Given the description of an element on the screen output the (x, y) to click on. 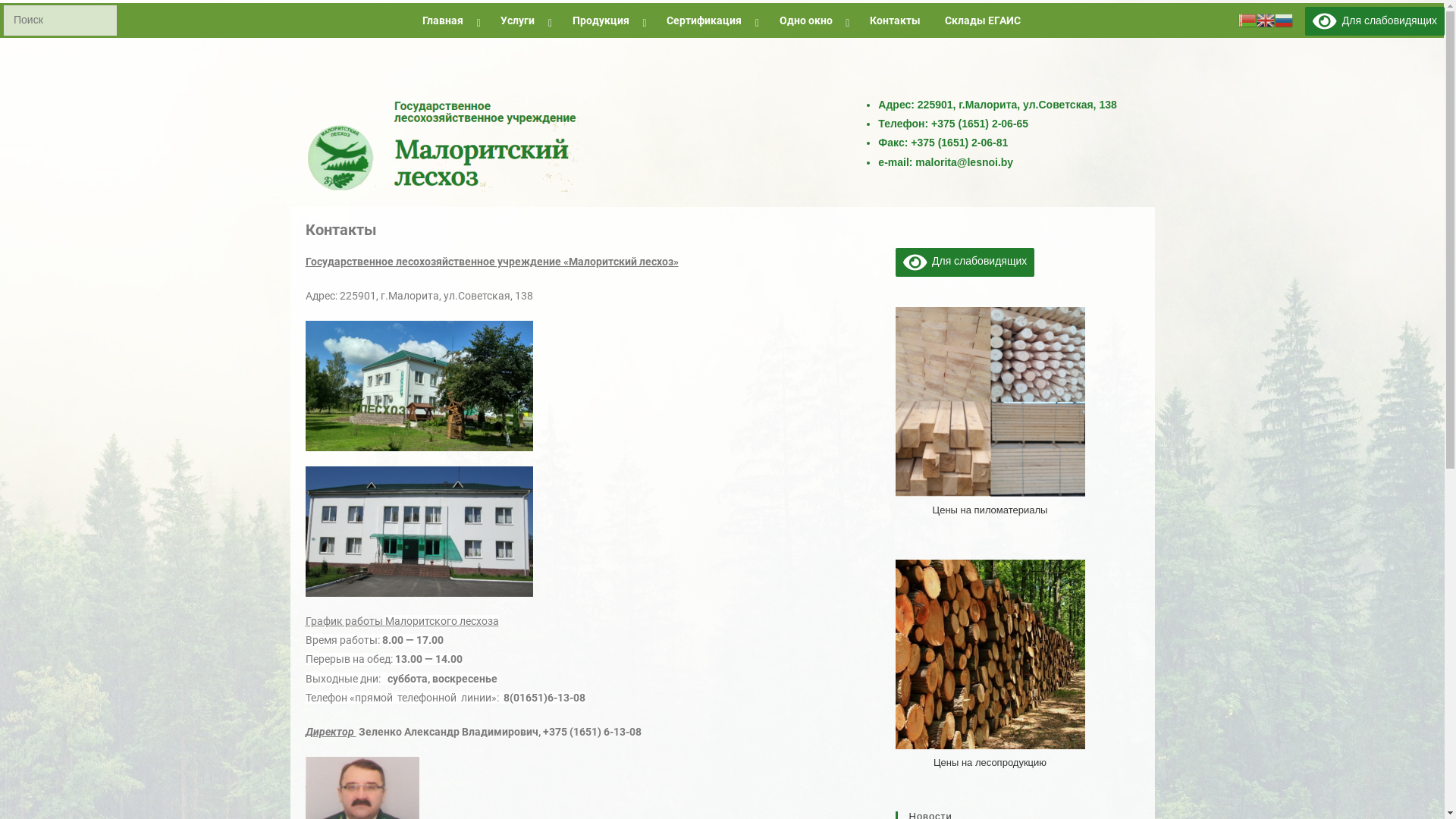
malorita@lesnoi.by Element type: text (964, 162)
English Element type: hover (1265, 19)
Russian Element type: hover (1283, 19)
Belarusian Element type: hover (1247, 19)
